Given the description of an element on the screen output the (x, y) to click on. 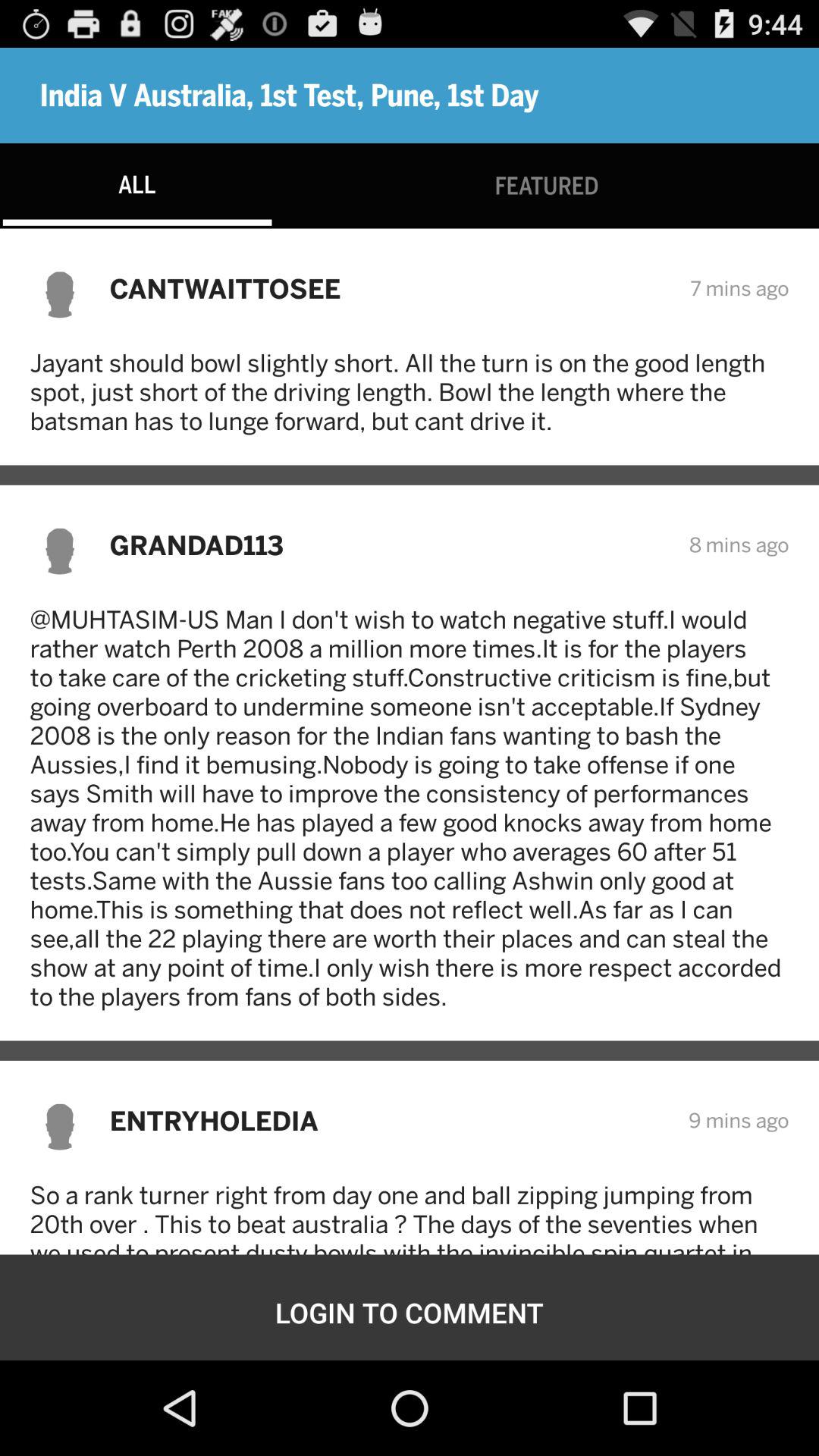
turn on icon above so a rank (388, 1120)
